Given the description of an element on the screen output the (x, y) to click on. 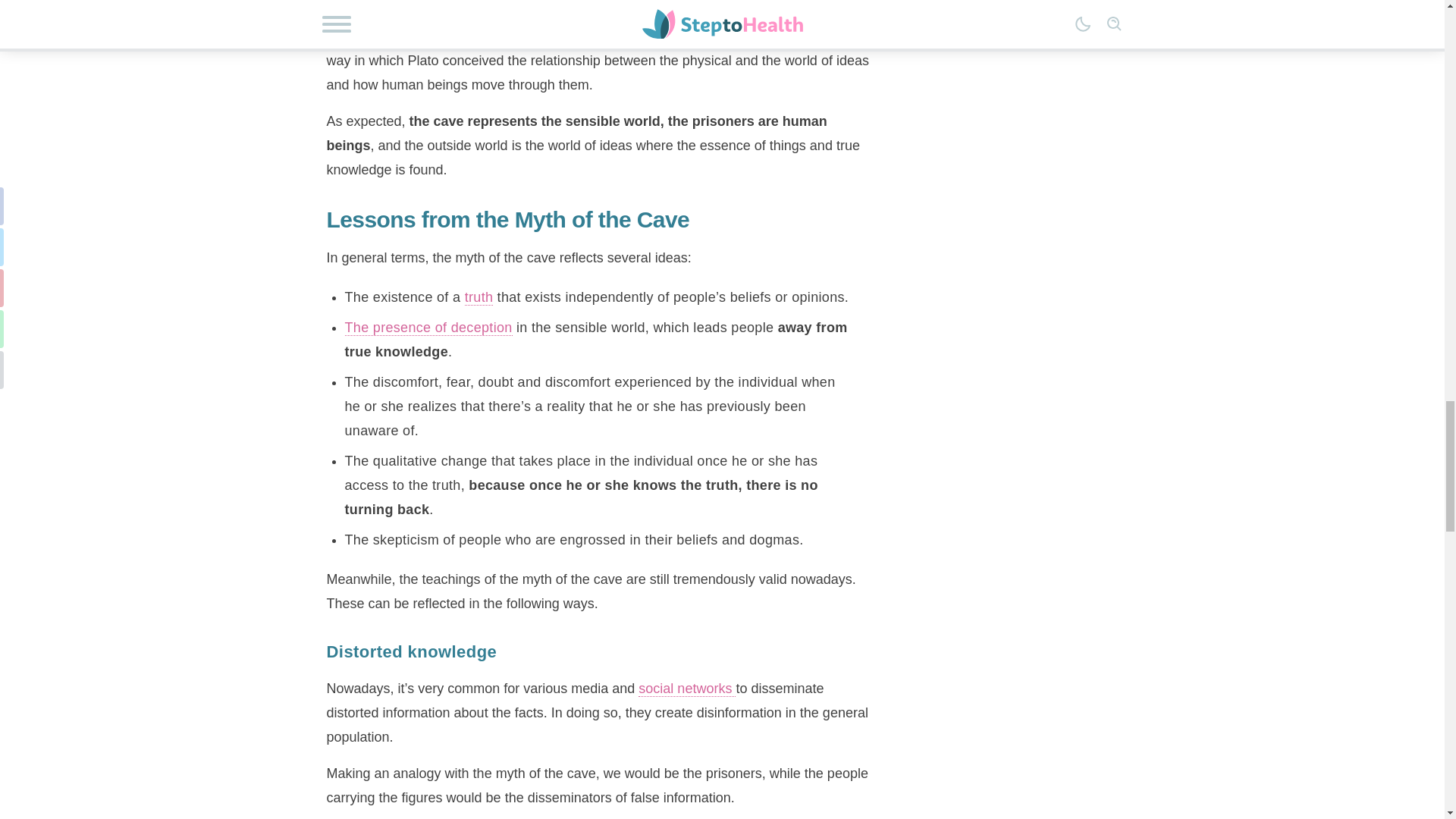
The presence of deception (427, 327)
social networks (687, 688)
truth (478, 297)
